Given the description of an element on the screen output the (x, y) to click on. 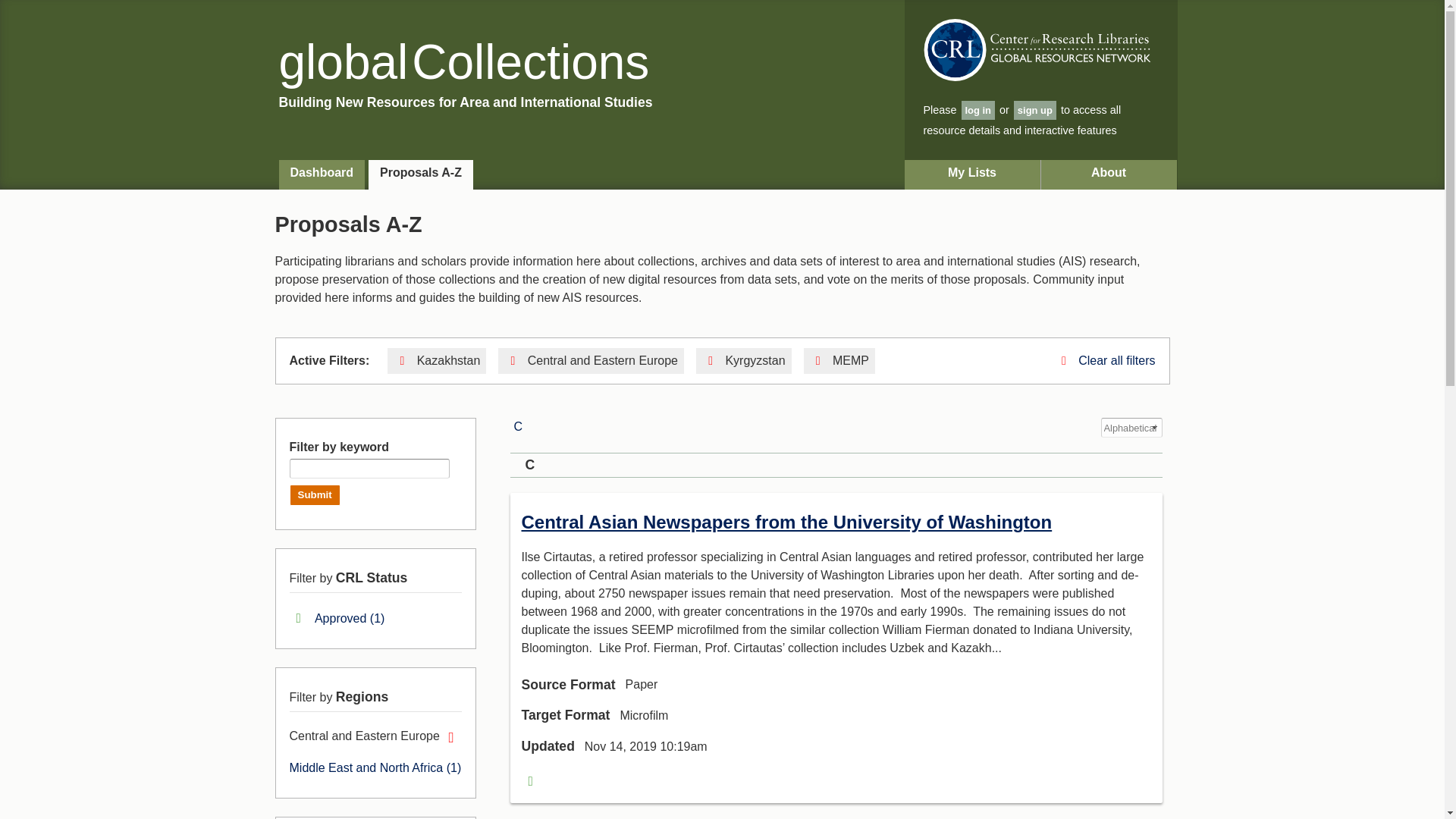
Dashboard (322, 174)
Submit (314, 495)
log in (977, 109)
Submit (314, 495)
Central Asian Newspapers from the University of Washington (786, 521)
Clear all filters (1105, 359)
About (1108, 174)
My Lists Dashboard. (972, 174)
Proposals A-Z (420, 174)
C (517, 426)
My Lists (972, 174)
sign up (1035, 109)
global Collections (464, 62)
